Given the description of an element on the screen output the (x, y) to click on. 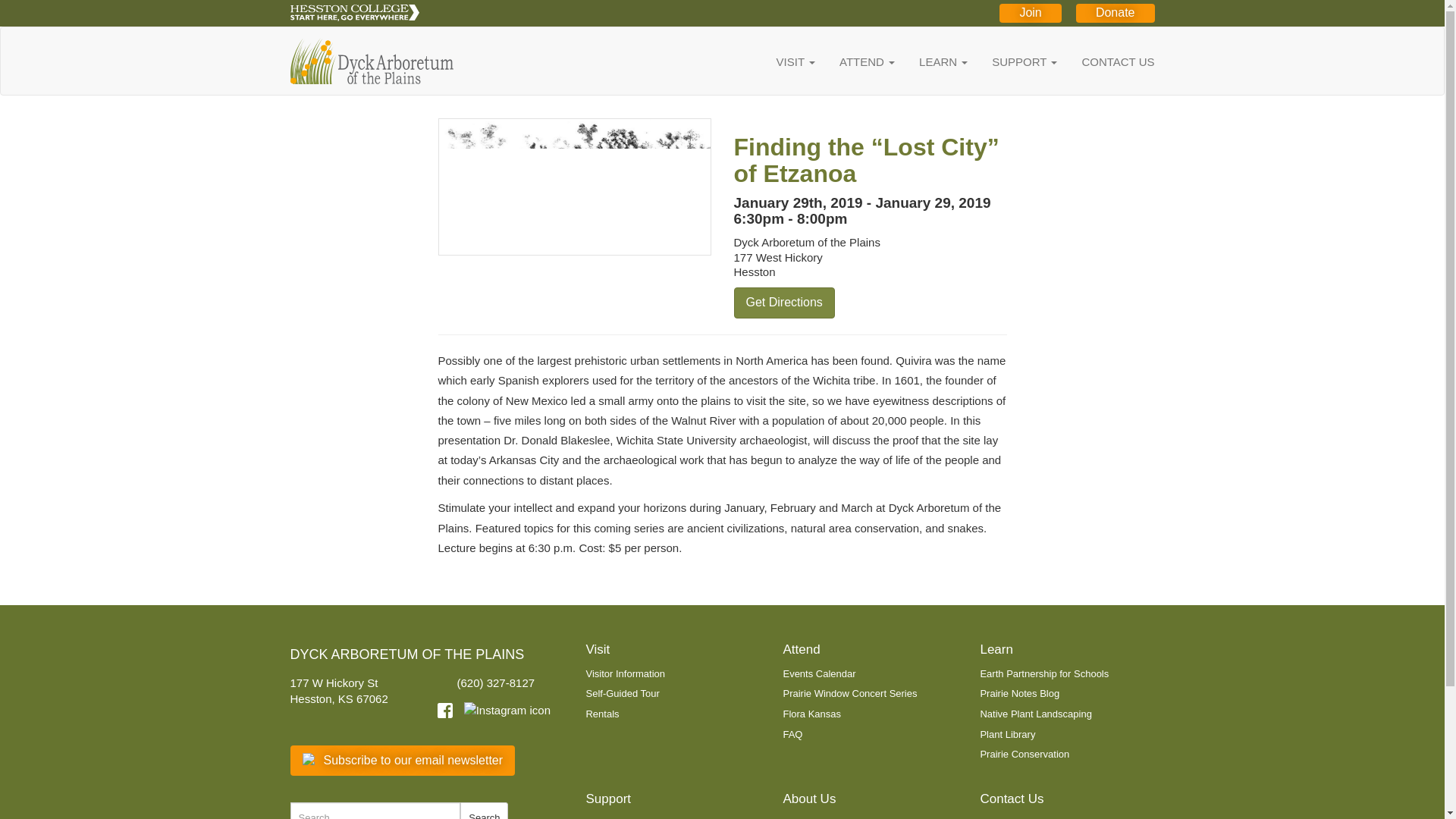
ATTEND (855, 60)
VISIT (783, 60)
Join (1029, 13)
VISIT (783, 60)
SUPPORT (1012, 60)
Search (484, 810)
Donate (1114, 13)
ATTEND (855, 60)
LEARN (931, 60)
CONTACT US (1105, 60)
LEARN (931, 60)
